Given the description of an element on the screen output the (x, y) to click on. 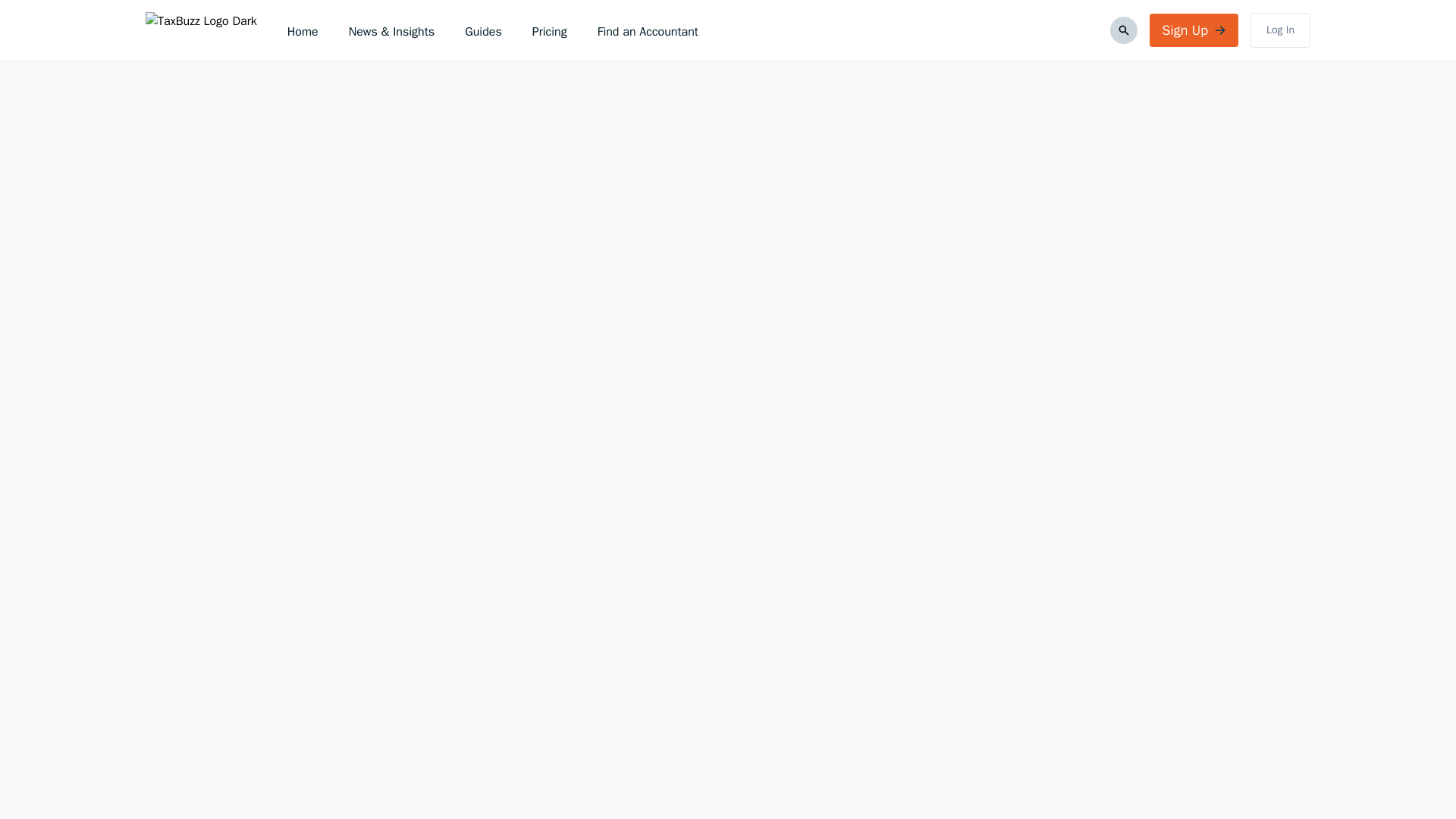
Home (302, 31)
Pricing (549, 31)
Find an Accountant (647, 31)
Log In (1280, 30)
Sign Up (1194, 29)
Guides (483, 31)
